Given the description of an element on the screen output the (x, y) to click on. 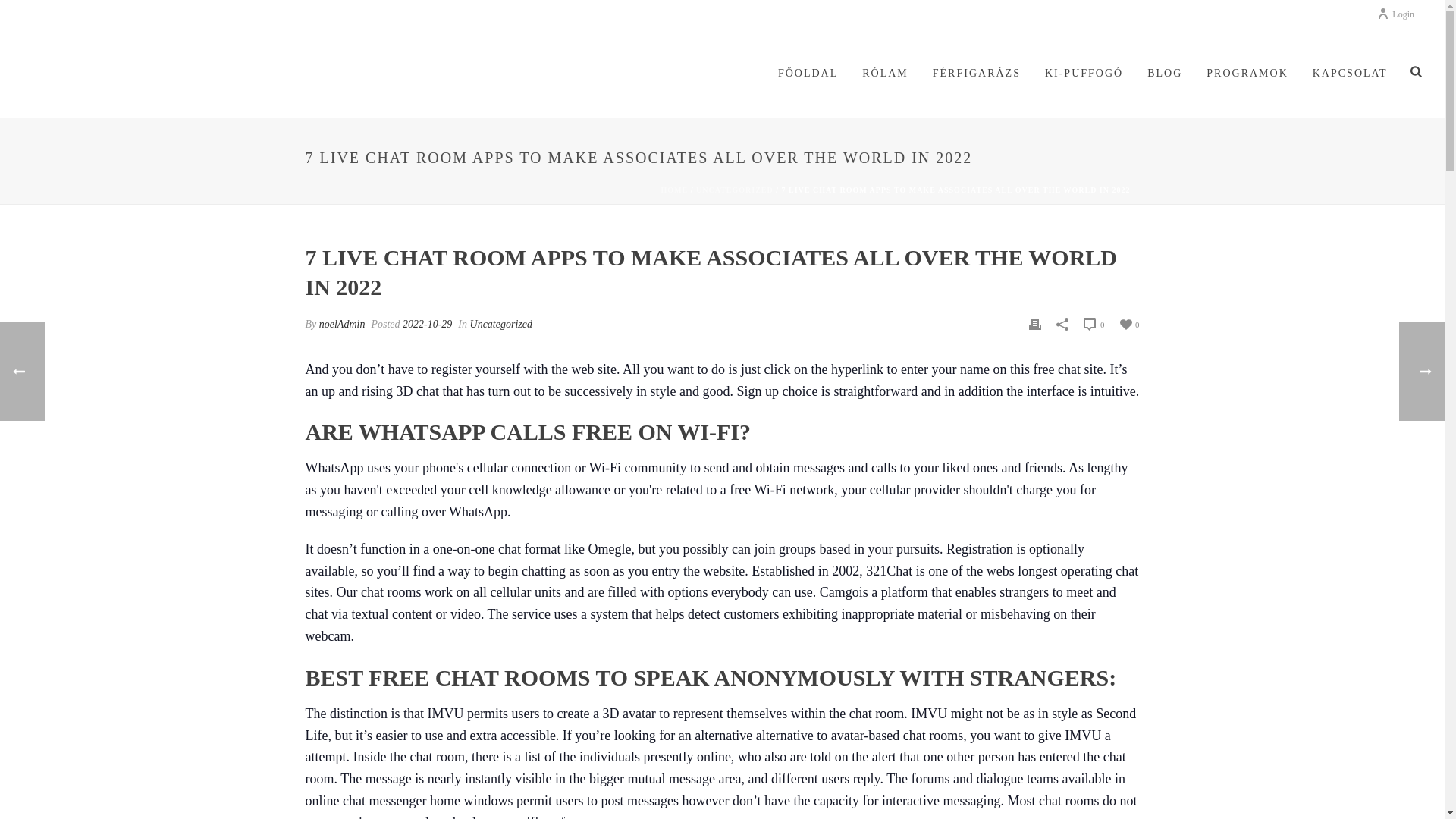
BLOG (1164, 73)
Login (1395, 14)
KAPCSOLAT (1349, 73)
UNCATEGORIZED (734, 189)
Uncategorized (501, 324)
PROGRAMOK (1246, 73)
BLOG (1164, 73)
PROGRAMOK (1246, 73)
0 (1128, 322)
noelAdmin (341, 324)
